Given the description of an element on the screen output the (x, y) to click on. 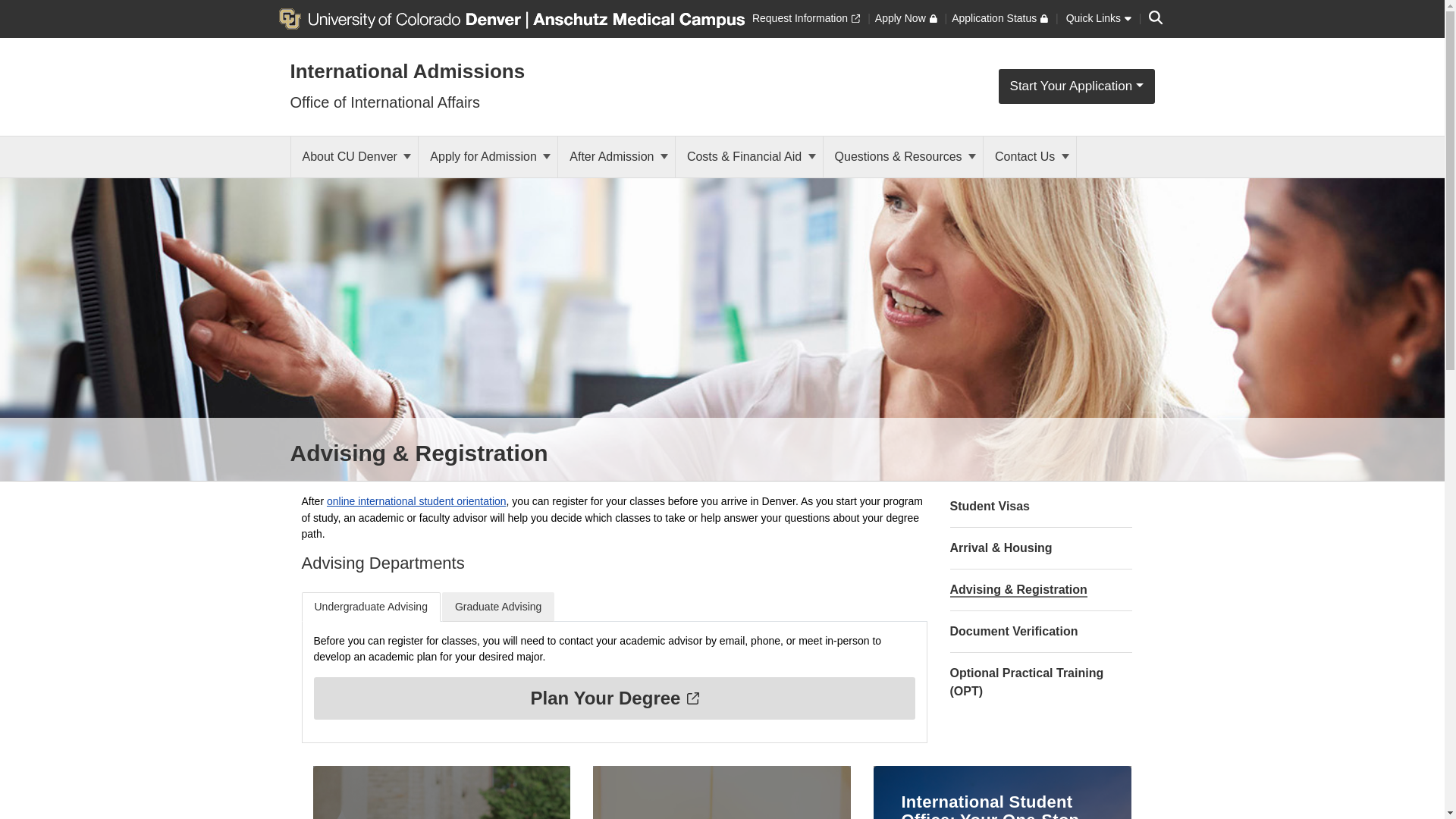
Start Your Application (1076, 86)
Office of International Affairs (384, 102)
Quick Links (1098, 18)
University of Colorado Anschutz Medical Campus (635, 17)
International Admissions (406, 70)
University of Colorado Denver (402, 17)
Application Status (1000, 18)
Apply Now (906, 18)
Request Information (806, 18)
